Given the description of an element on the screen output the (x, y) to click on. 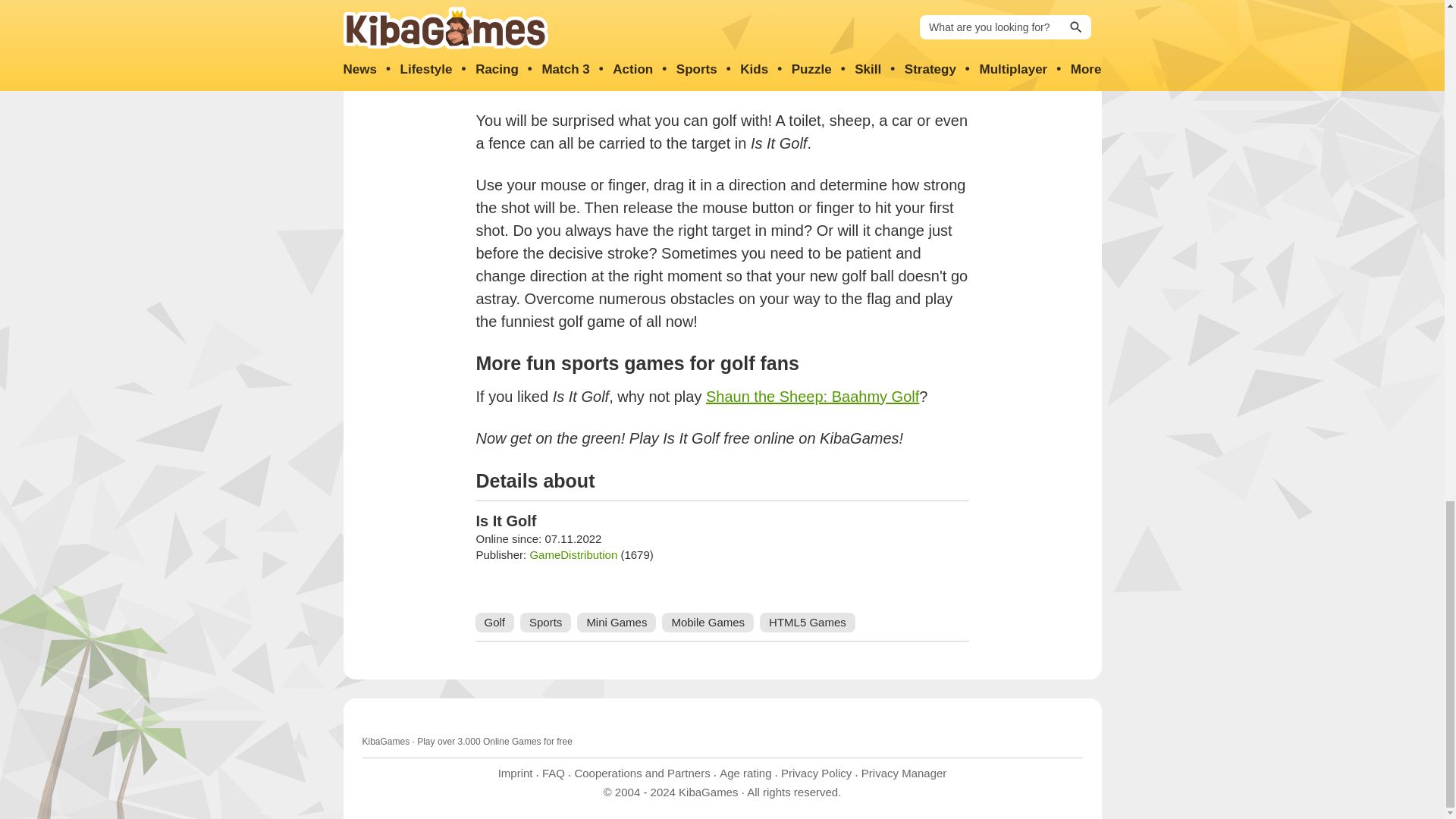
Shaun the Sheep: Baahmy Golf (812, 396)
GameDistribution (573, 554)
Golf (493, 622)
